Given the description of an element on the screen output the (x, y) to click on. 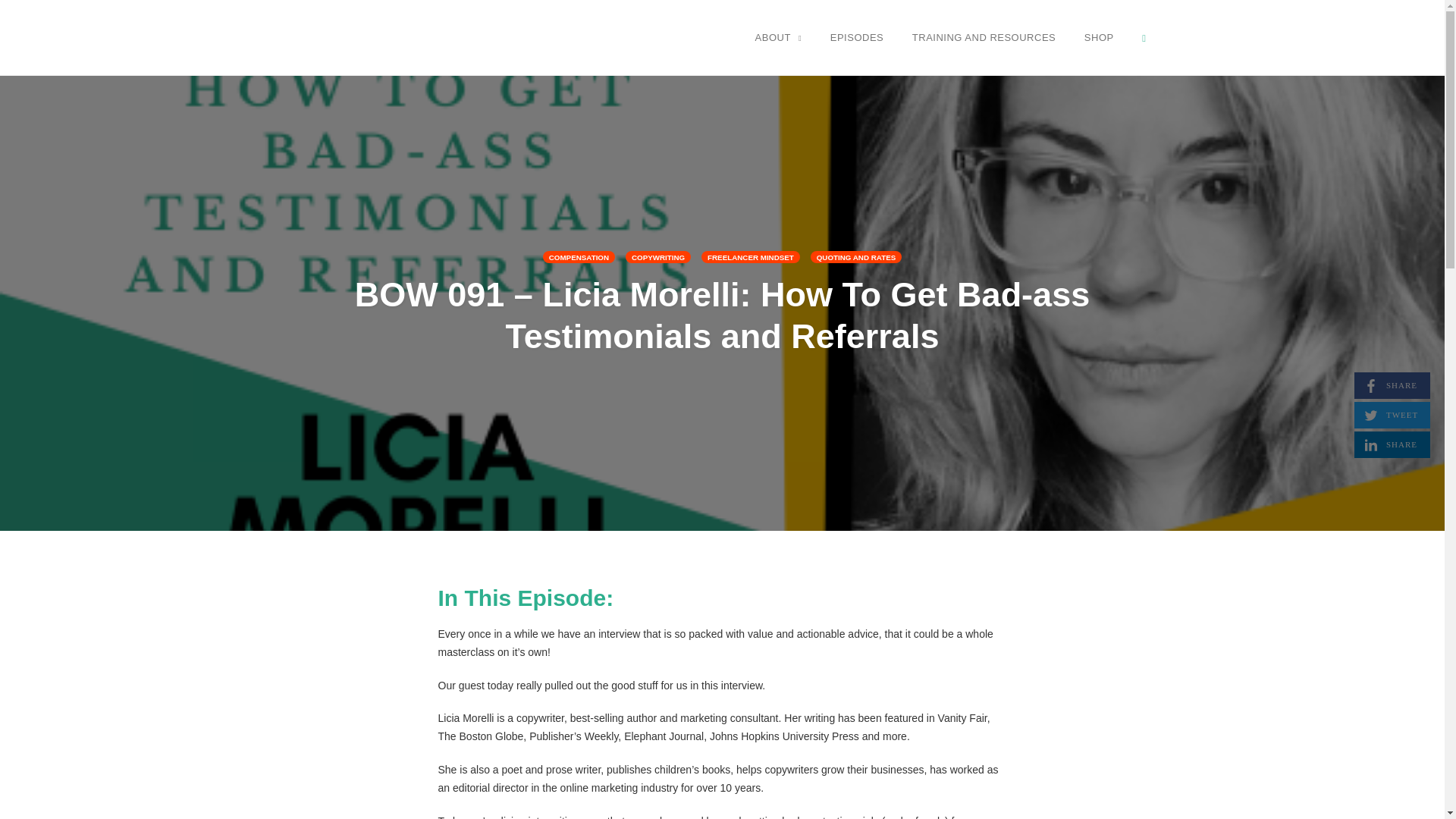
TRAINING AND RESOURCES (984, 37)
ABOUT (778, 37)
SHOP (1098, 37)
FREELANCER MINDSET (750, 256)
COMPENSATION (578, 256)
QUOTING AND RATES (1391, 385)
COPYWRITING (856, 256)
OPEN SEARCH FORM (1391, 444)
